Given the description of an element on the screen output the (x, y) to click on. 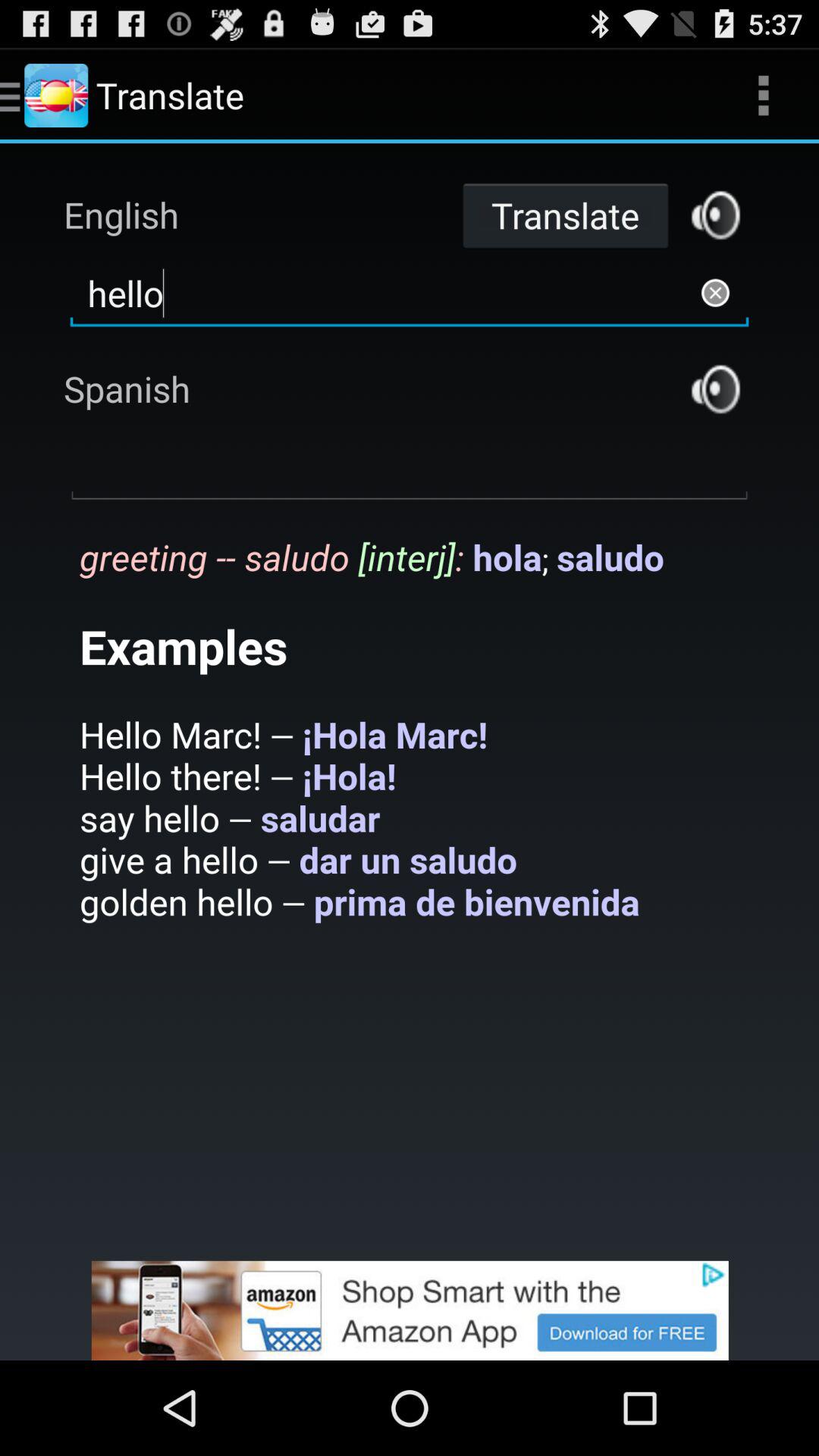
add the picture (409, 1310)
